Given the description of an element on the screen output the (x, y) to click on. 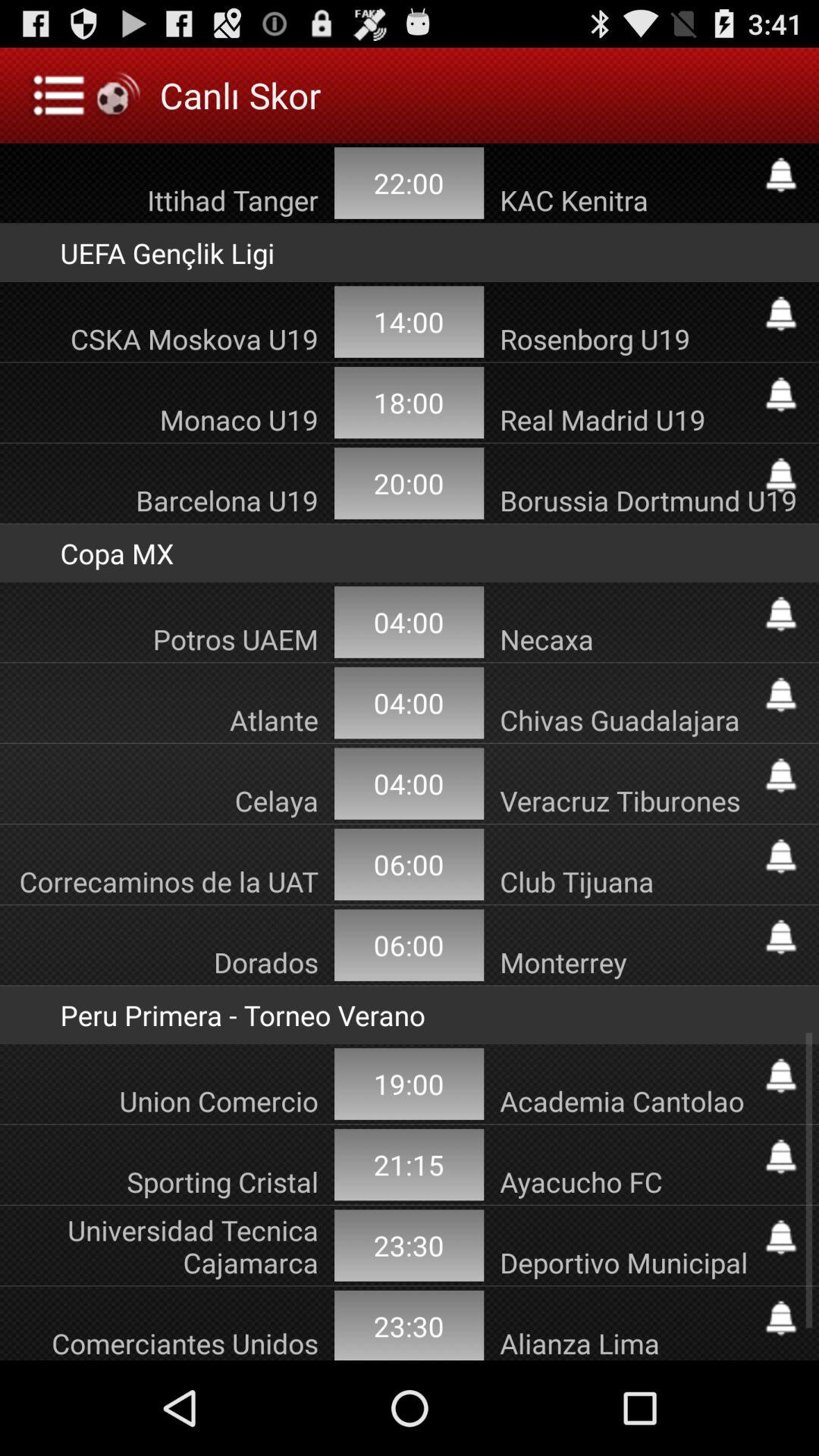
enable notification (780, 1075)
